Given the description of an element on the screen output the (x, y) to click on. 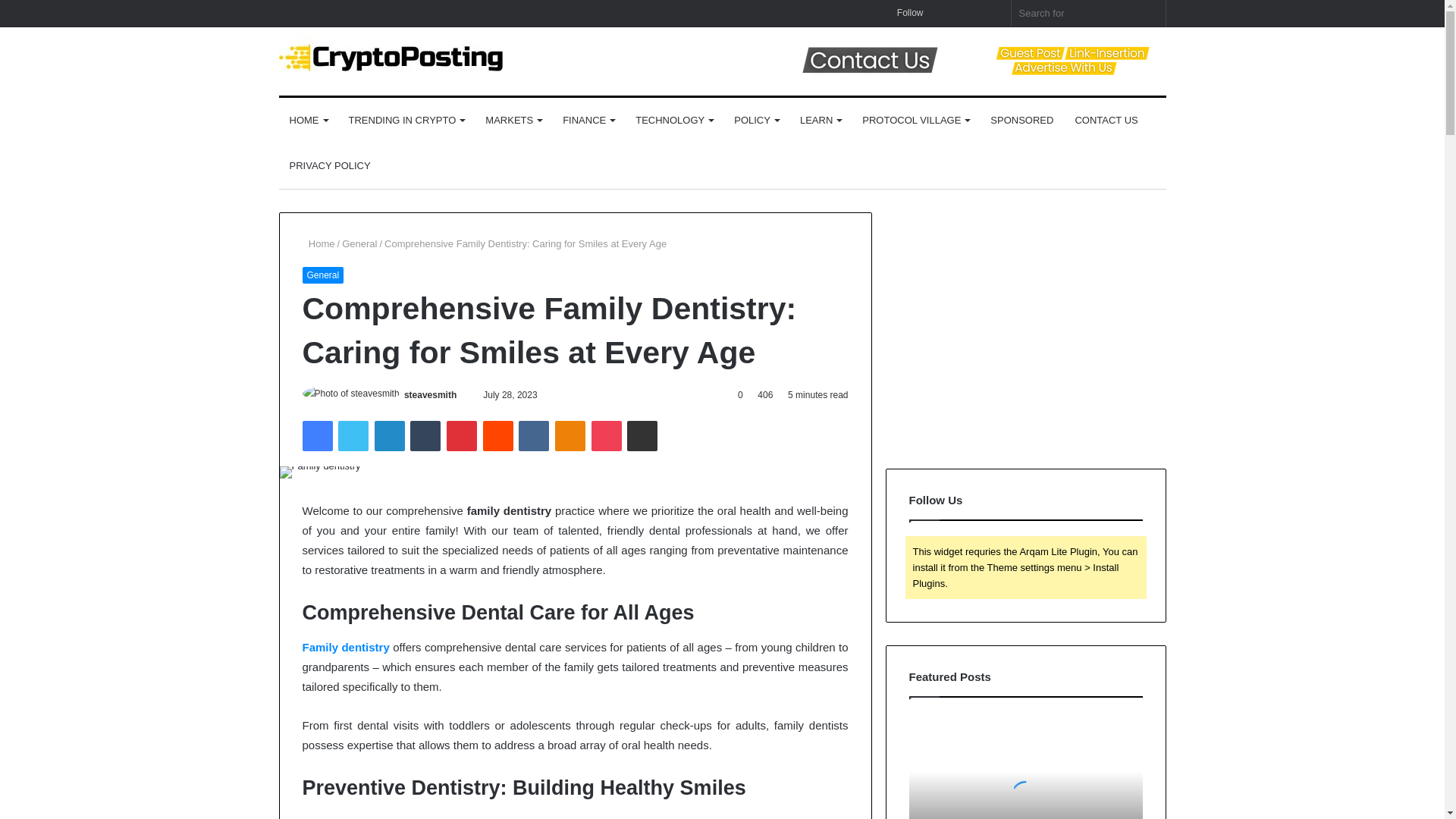
LinkedIn (389, 435)
Pinterest (461, 435)
MARKETS (512, 120)
Facebook (316, 435)
Twitter (352, 435)
Reddit (498, 435)
FINANCE (587, 120)
Tumblr (425, 435)
TRENDING IN CRYPTO (406, 120)
steavesmith (430, 394)
